Given the description of an element on the screen output the (x, y) to click on. 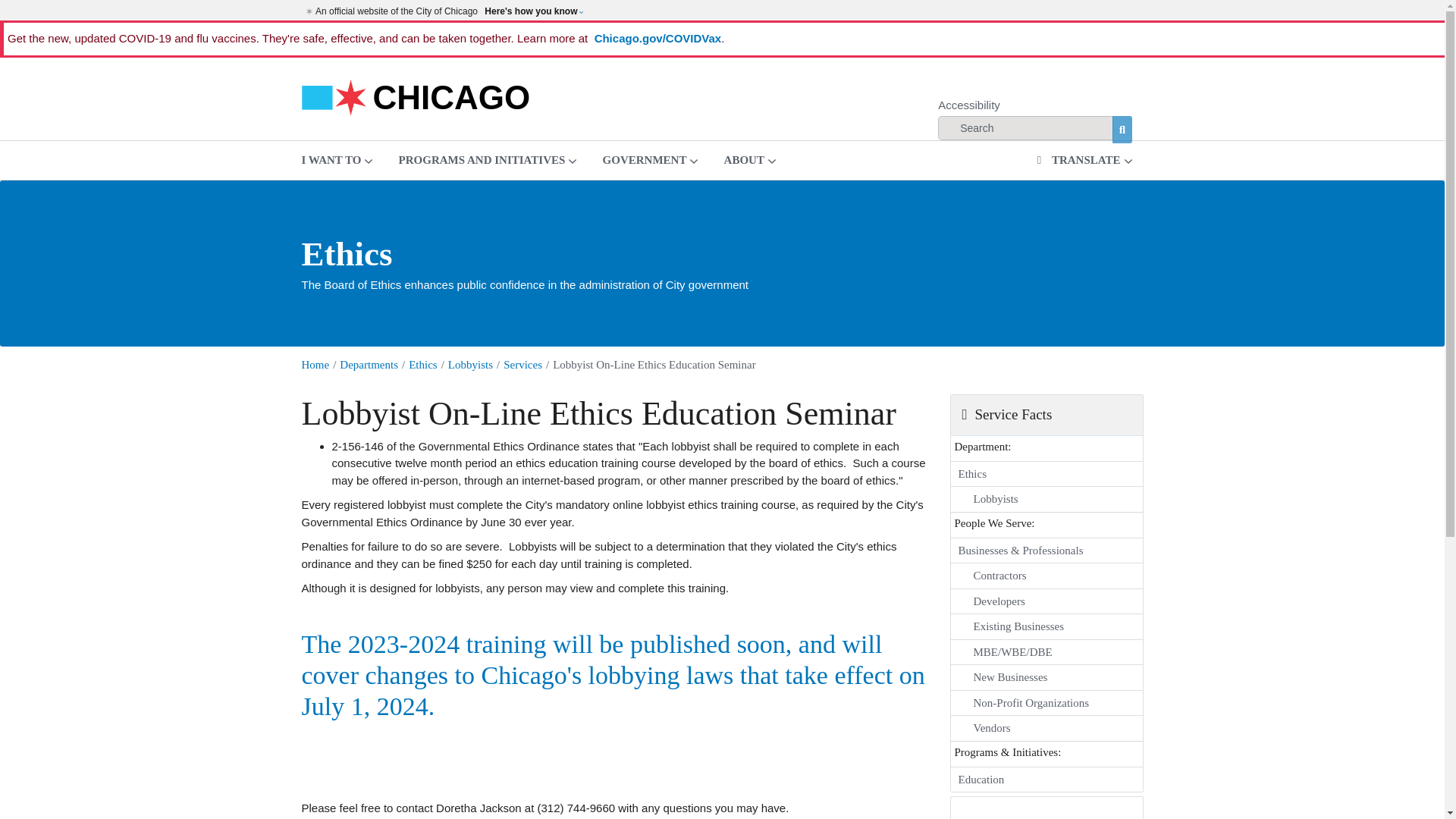
Government (650, 159)
Programs and Initiatives (487, 159)
Home (416, 94)
GOVERNMENT (650, 159)
CHICAGO (416, 94)
PROGRAMS AND INITIATIVES (487, 159)
Here's how you know (533, 11)
I WANT TO (336, 159)
